Given the description of an element on the screen output the (x, y) to click on. 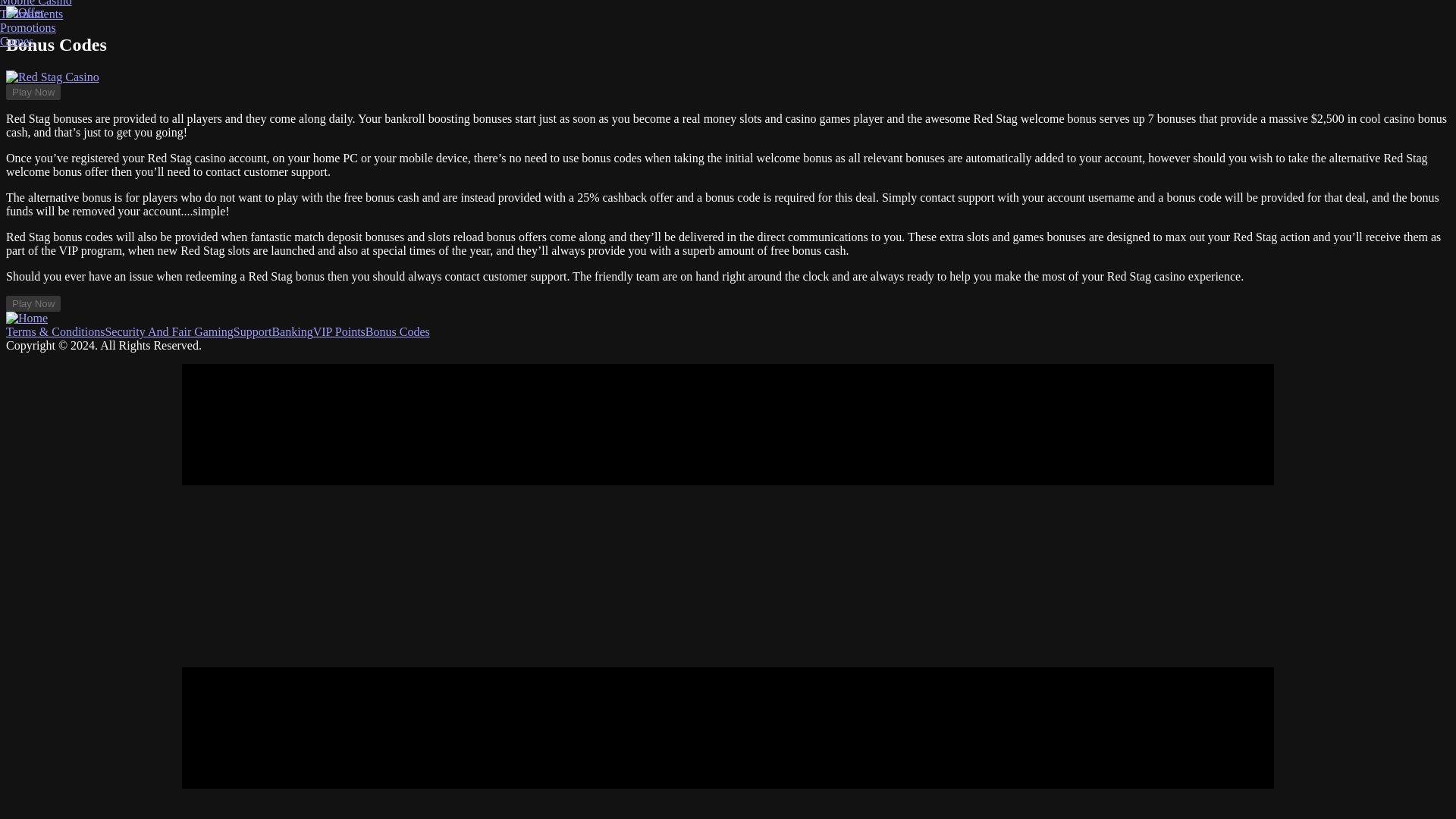
Security And Fair Gaming (168, 331)
Bonus Codes (397, 331)
Play Now (33, 91)
Play Now (33, 303)
Support (252, 331)
VIP Points (339, 331)
Banking (291, 331)
